Given the description of an element on the screen output the (x, y) to click on. 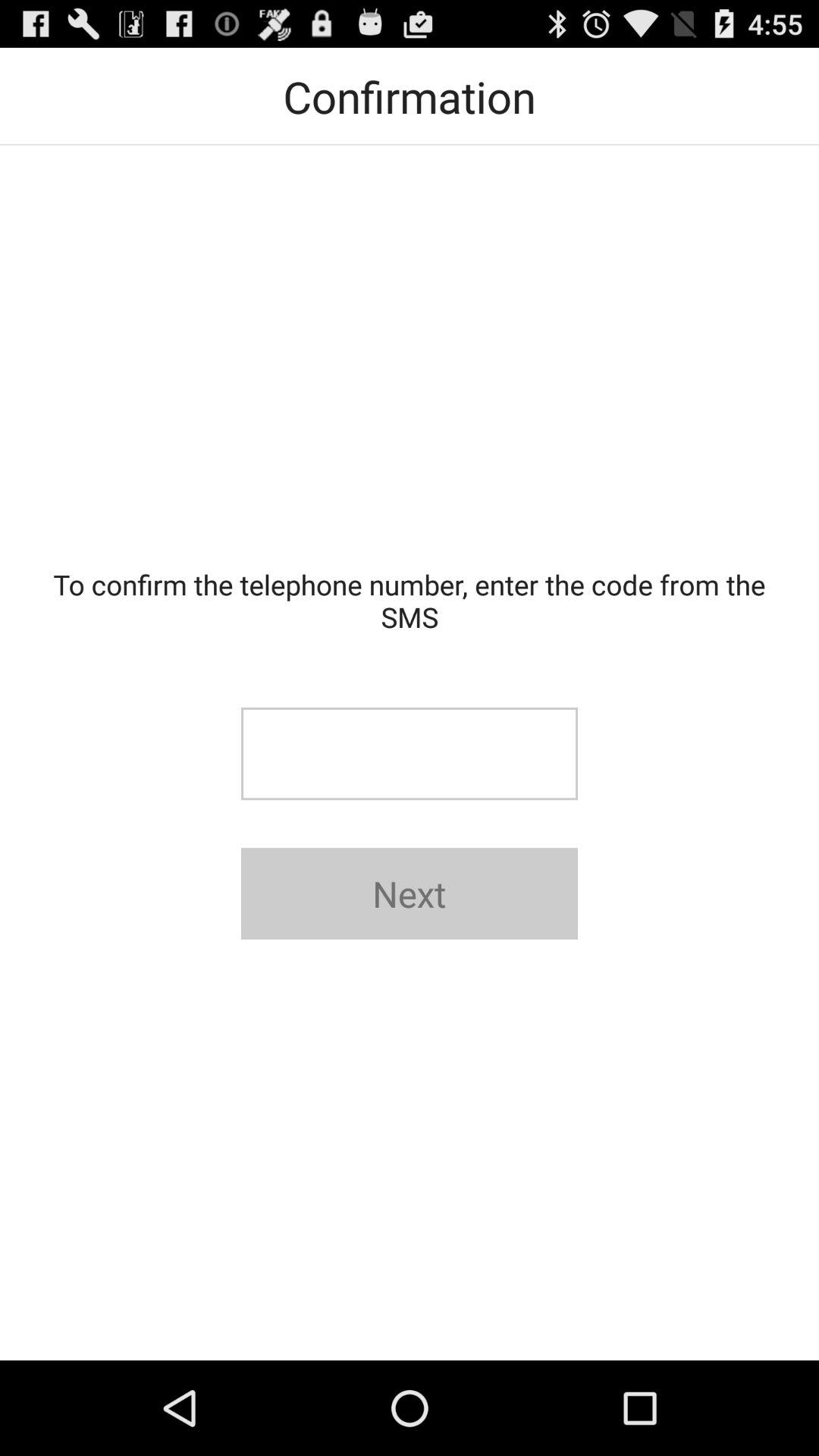
launch the next (409, 893)
